Given the description of an element on the screen output the (x, y) to click on. 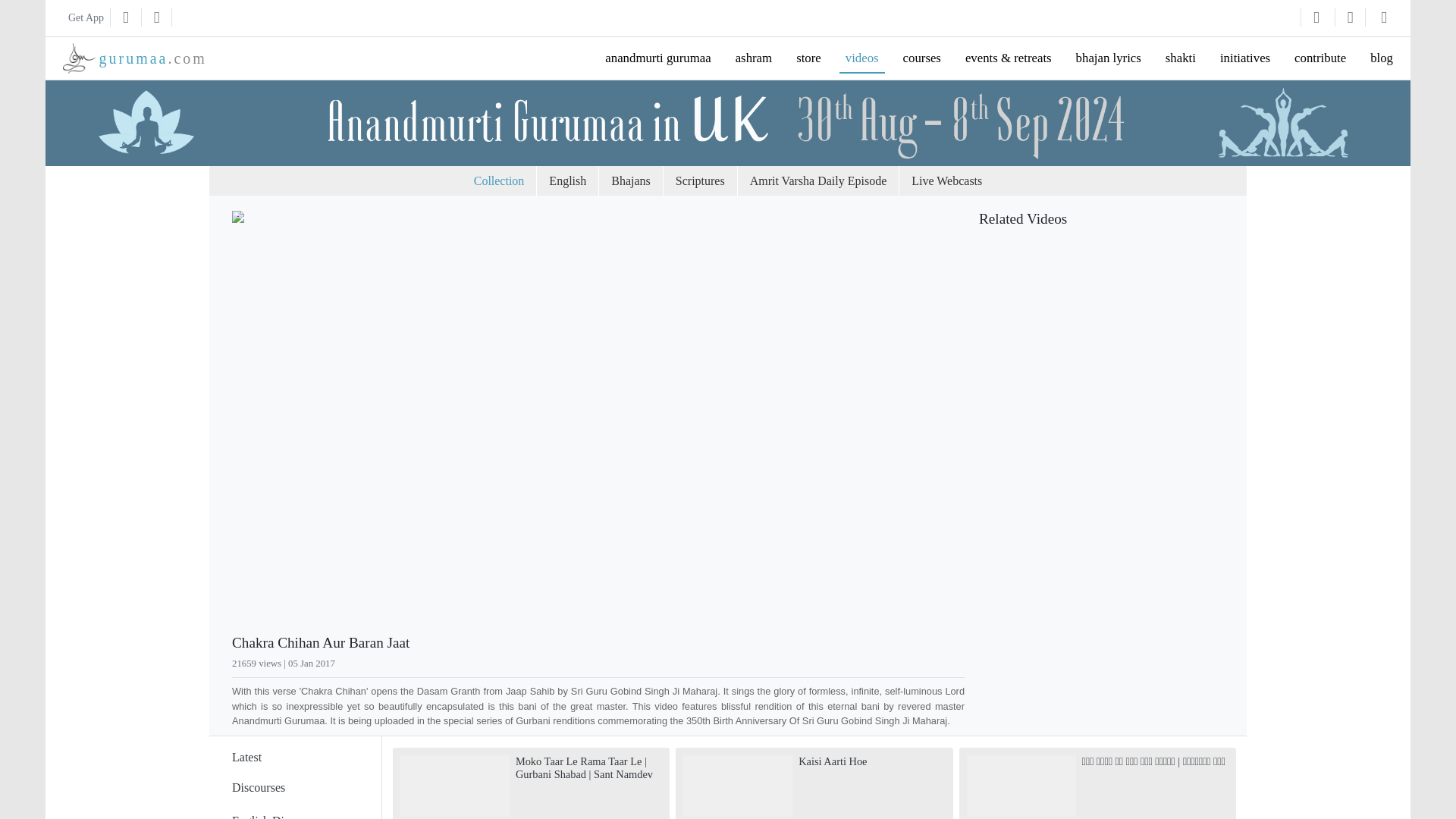
Scriptures (699, 181)
Bhajans (630, 181)
Collection (499, 181)
store (808, 57)
initiatives (1245, 57)
shakti (1180, 57)
Amrit Varsha Daily Episode (818, 181)
868 videos (294, 787)
Amrit Varsha Daily Episode (818, 181)
Latest (246, 757)
blog (1381, 57)
Discourses (134, 58)
English Discourses (258, 787)
